Given the description of an element on the screen output the (x, y) to click on. 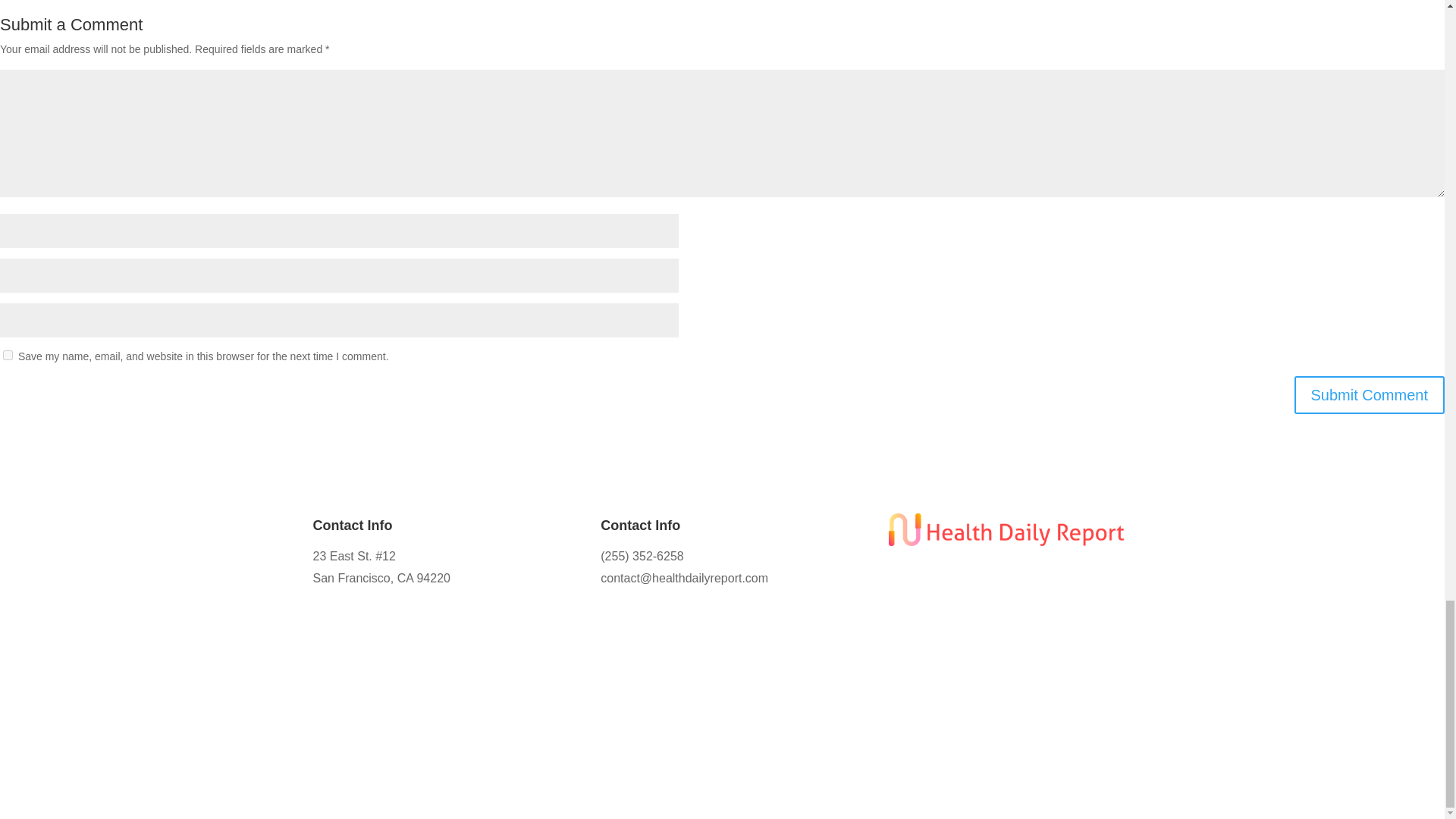
D (26, 611)
yes (7, 355)
Search (276, 467)
1 (26, 587)
Round Out Your Core Routine With the Russian Twist (148, 563)
C (26, 540)
